Given the description of an element on the screen output the (x, y) to click on. 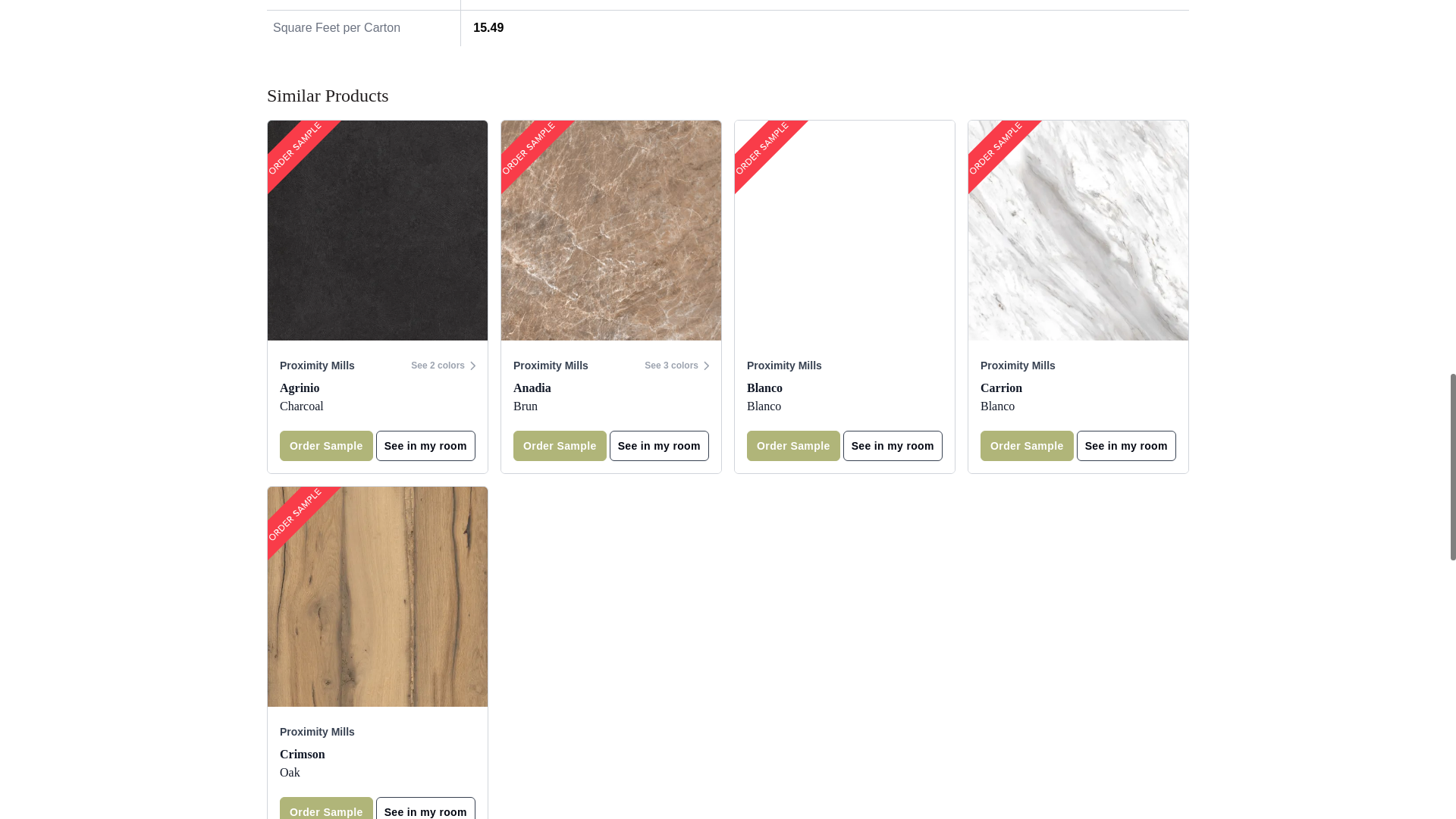
Crimson by Proximity Mills (377, 596)
Agrinio by Proximity Mills (377, 230)
Anadia by Proximity Mills (610, 230)
Carrion by Proximity Mills (1078, 230)
Blanco by Proximity Mills (845, 230)
